Given the description of an element on the screen output the (x, y) to click on. 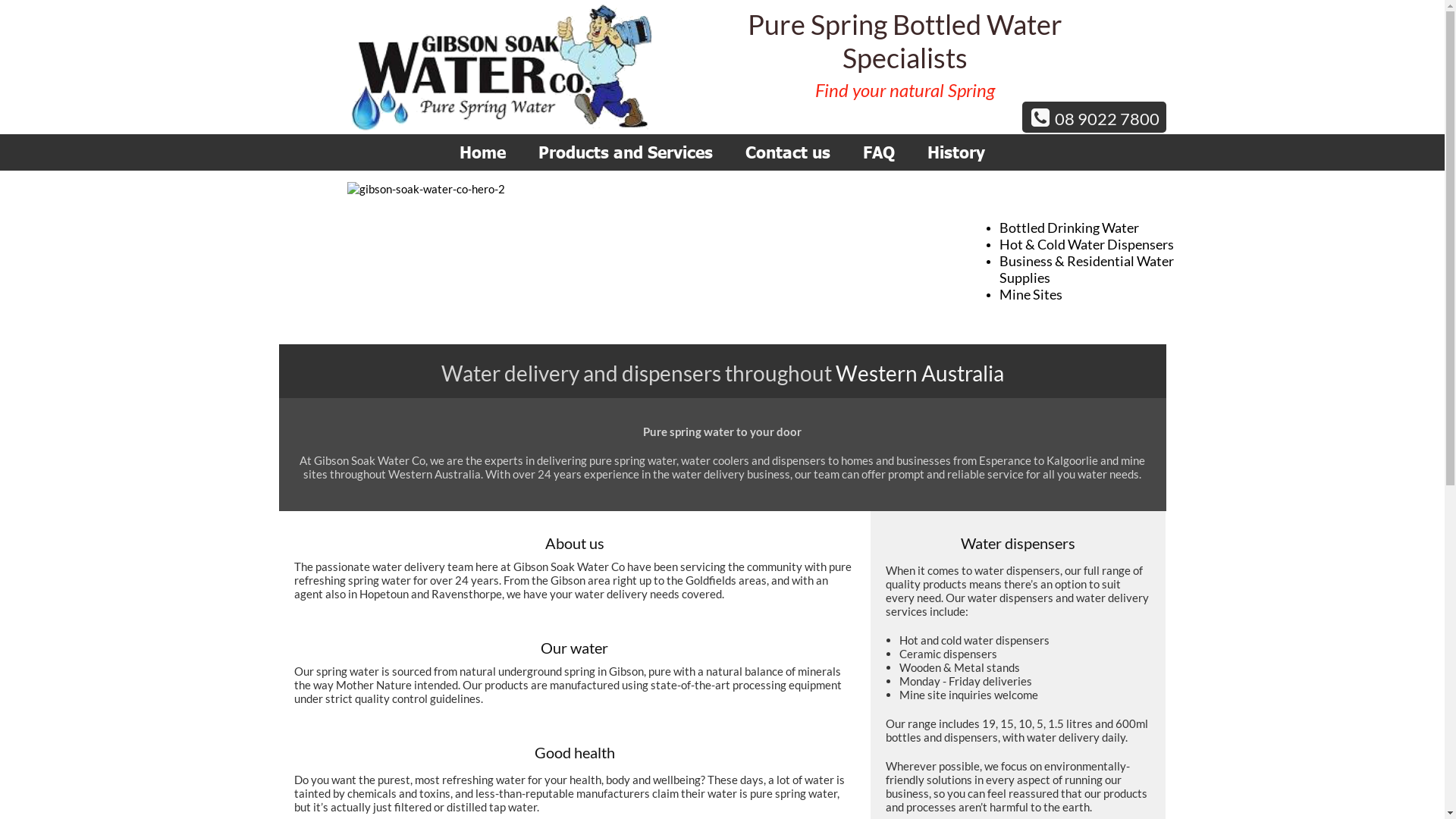
gibson-soak-water-co-hero-2 Element type: hover (635, 246)
Contact us Element type: text (787, 152)
History Element type: text (956, 152)
FAQ Element type: text (878, 152)
Home Element type: text (482, 152)
Products and Services Element type: text (625, 152)
